Given the description of an element on the screen output the (x, y) to click on. 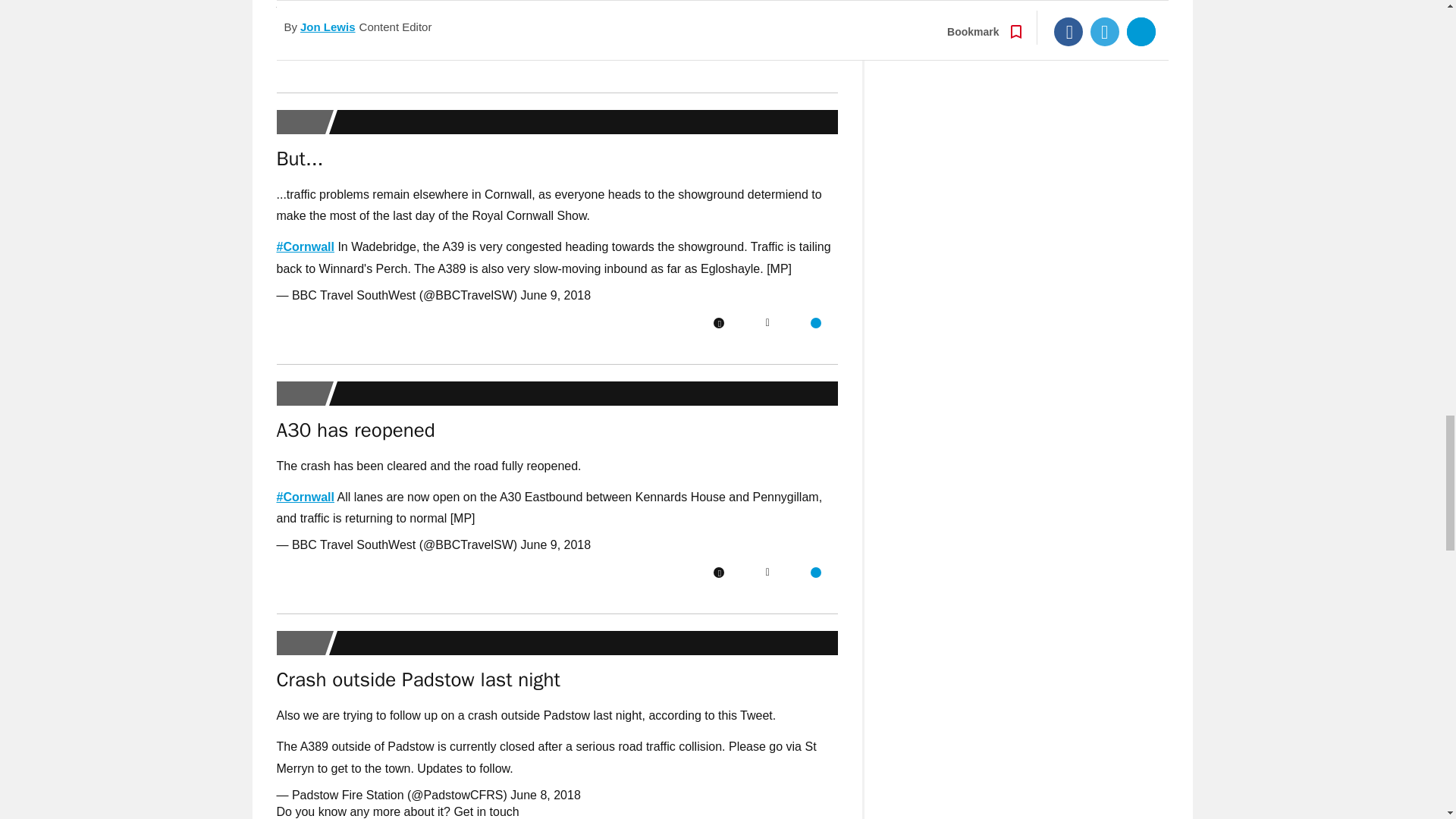
Facebook (718, 50)
Facebook (718, 322)
Twitter (767, 322)
Twitter (767, 50)
Facebook (718, 572)
